Given the description of an element on the screen output the (x, y) to click on. 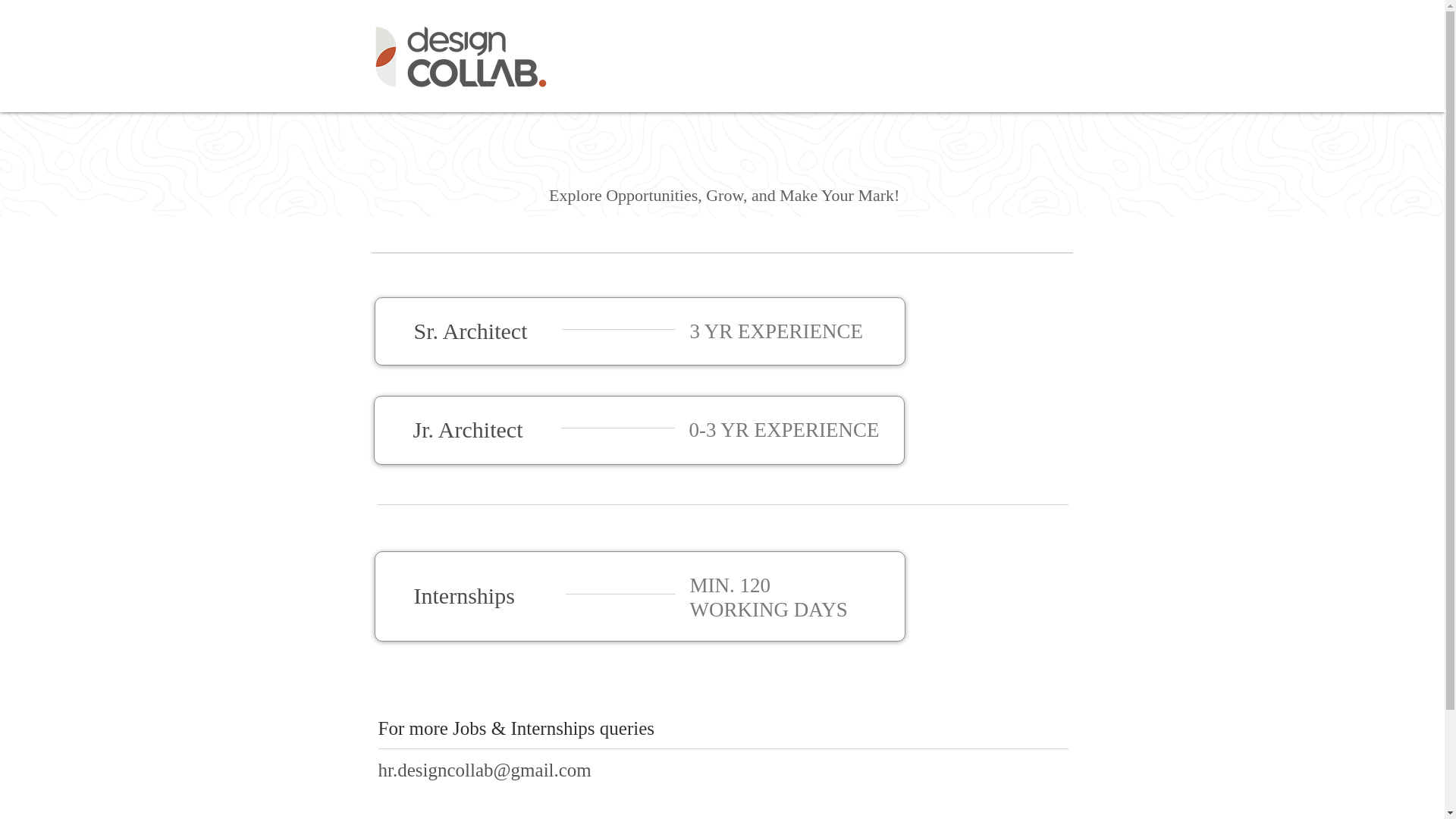
Design Collab (460, 56)
